Given the description of an element on the screen output the (x, y) to click on. 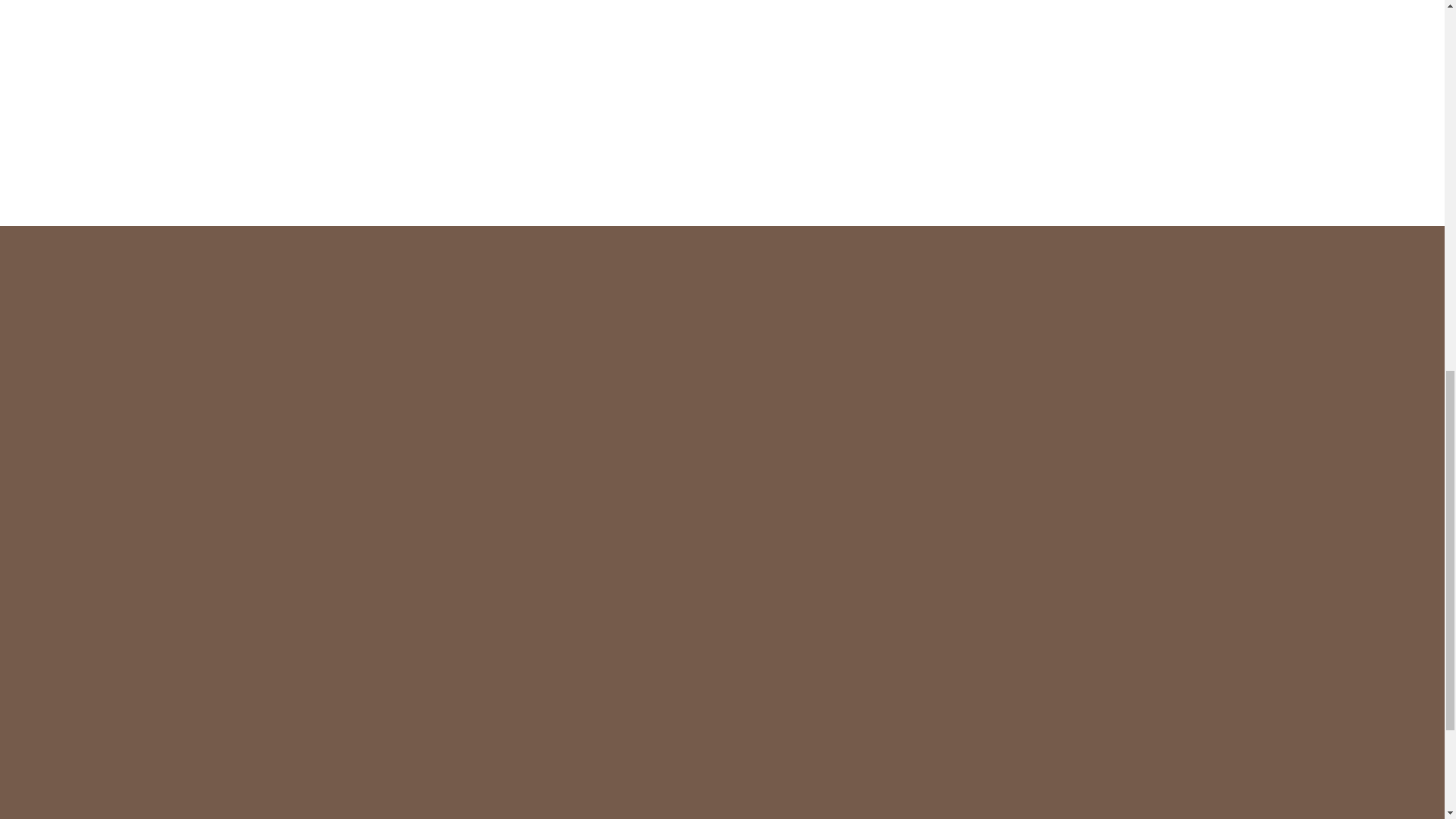
 Submit  (1070, 728)
